Given the description of an element on the screen output the (x, y) to click on. 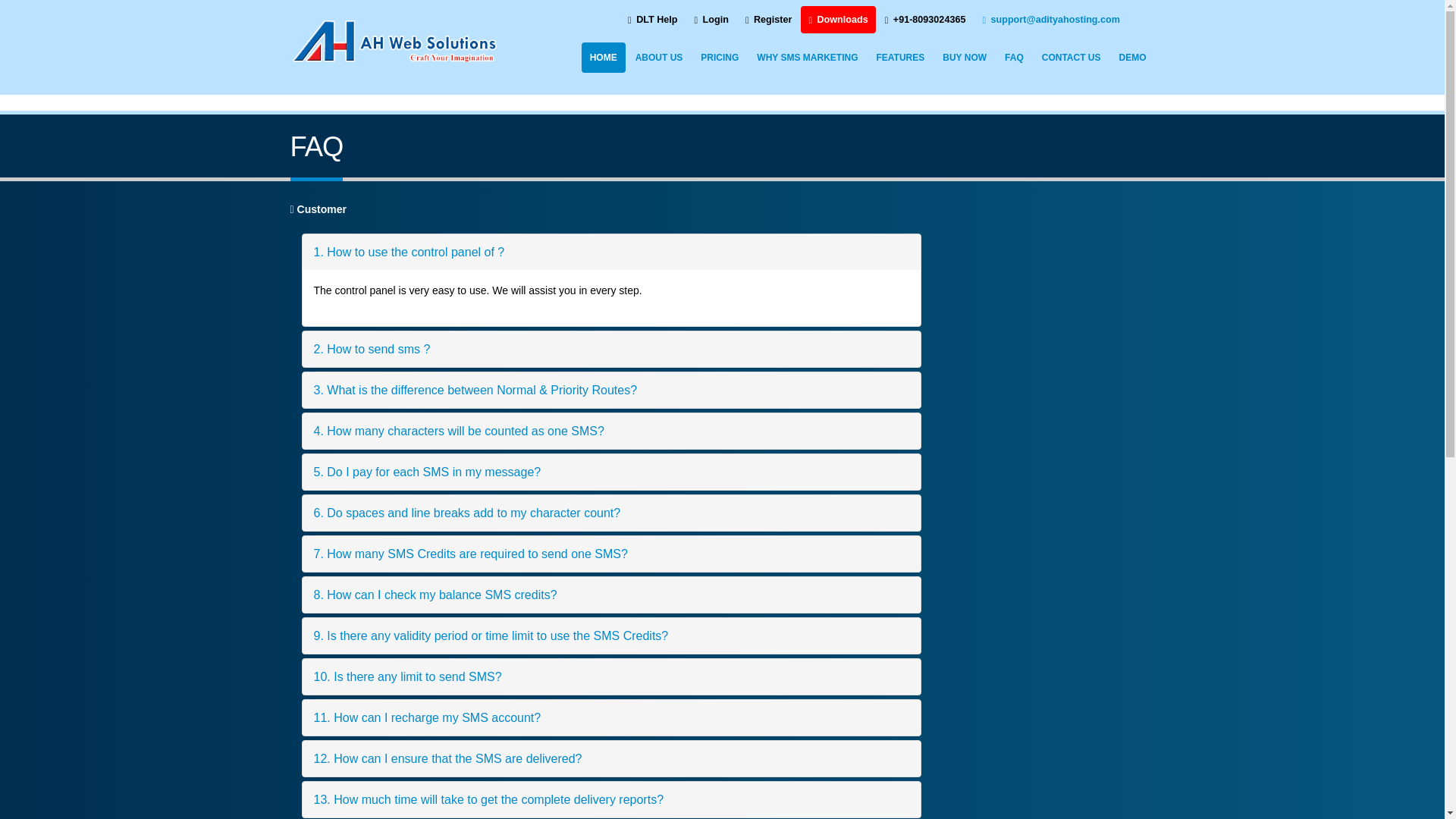
10. Is there any limit to send SMS? (610, 676)
6. Do spaces and line breaks add to my character count? (610, 513)
11. How can I recharge my SMS account? (610, 717)
PRICING (719, 57)
8. How can I check my balance SMS credits? (610, 595)
CONTACT US (1071, 57)
BUY NOW (964, 57)
HOME (603, 57)
5. Do I pay for each SMS in my message? (610, 472)
